Given the description of an element on the screen output the (x, y) to click on. 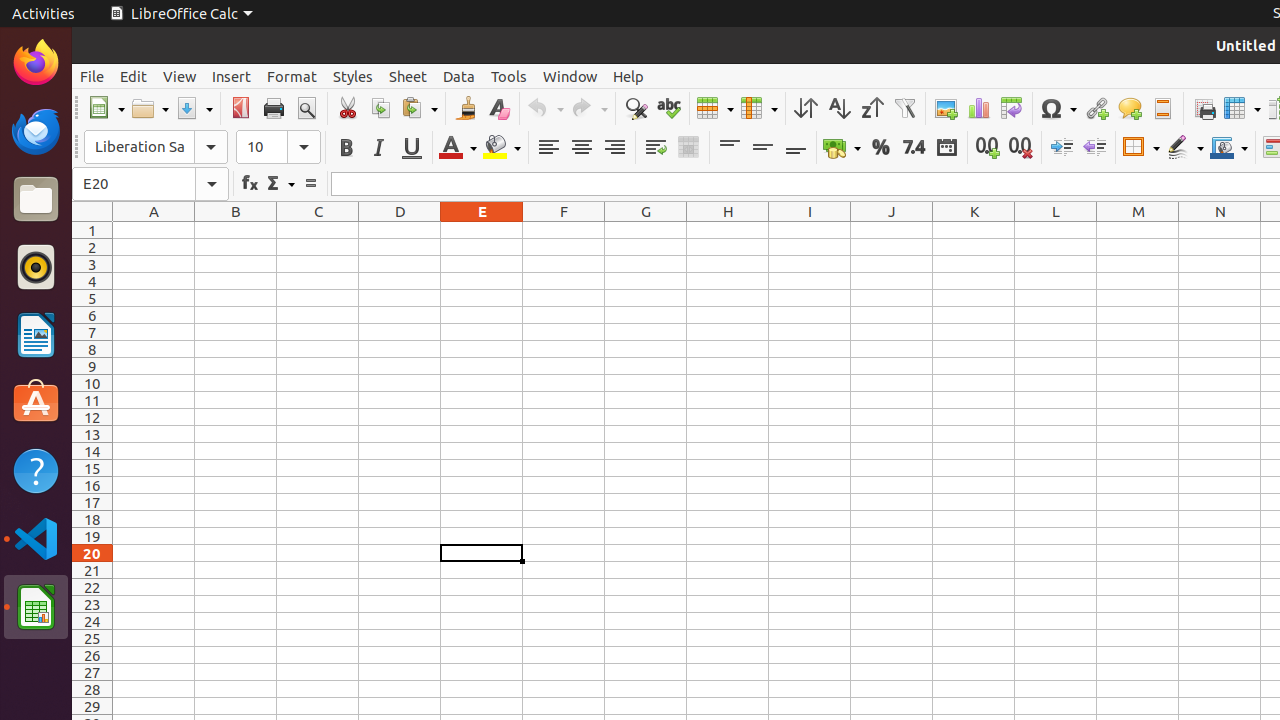
Border Color Element type: push-button (1229, 147)
B1 Element type: table-cell (236, 230)
LibreOffice Writer Element type: push-button (36, 334)
Formula Element type: push-button (310, 183)
Date Element type: push-button (946, 147)
